Given the description of an element on the screen output the (x, y) to click on. 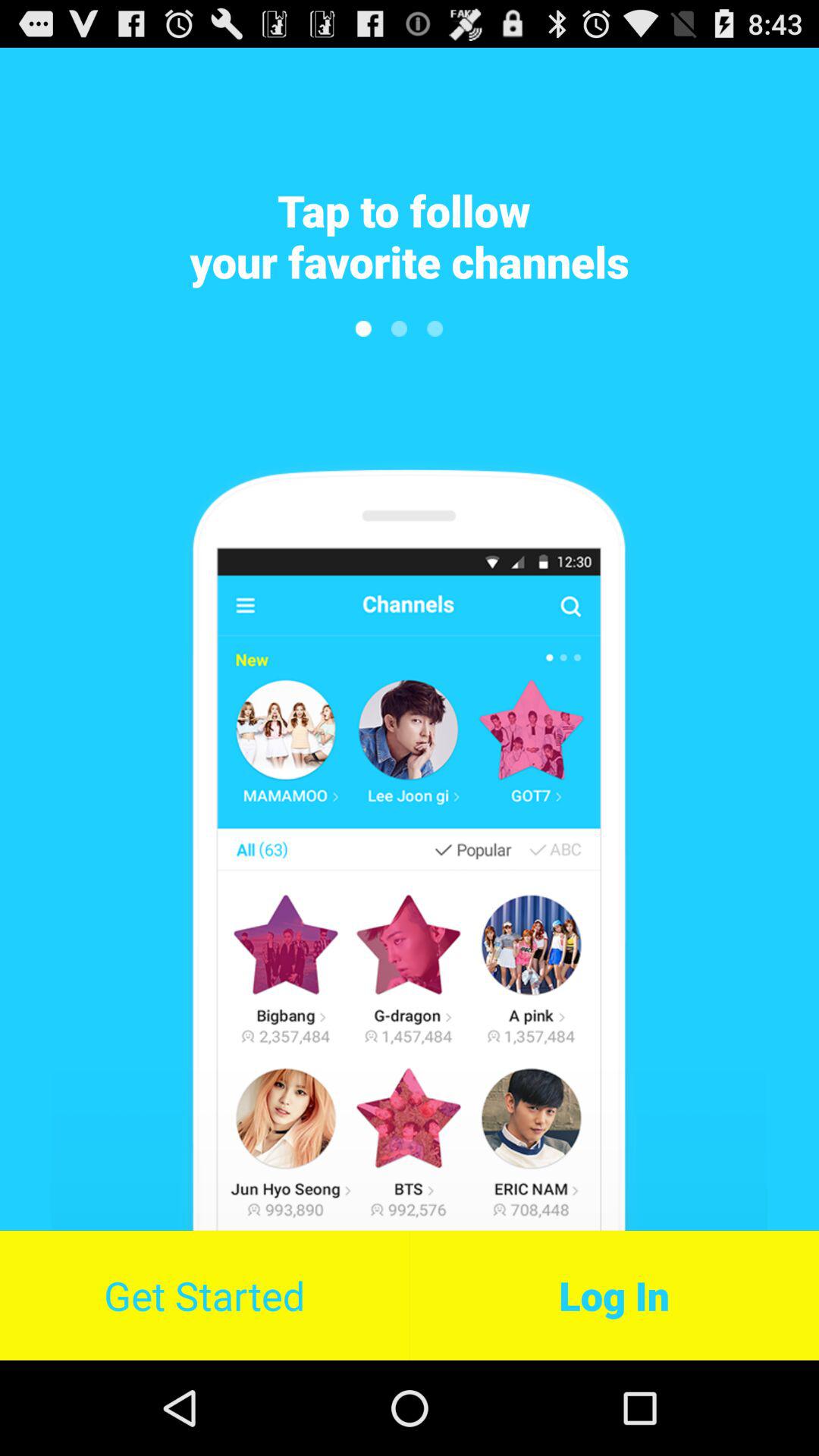
turn off the get started icon (204, 1295)
